Given the description of an element on the screen output the (x, y) to click on. 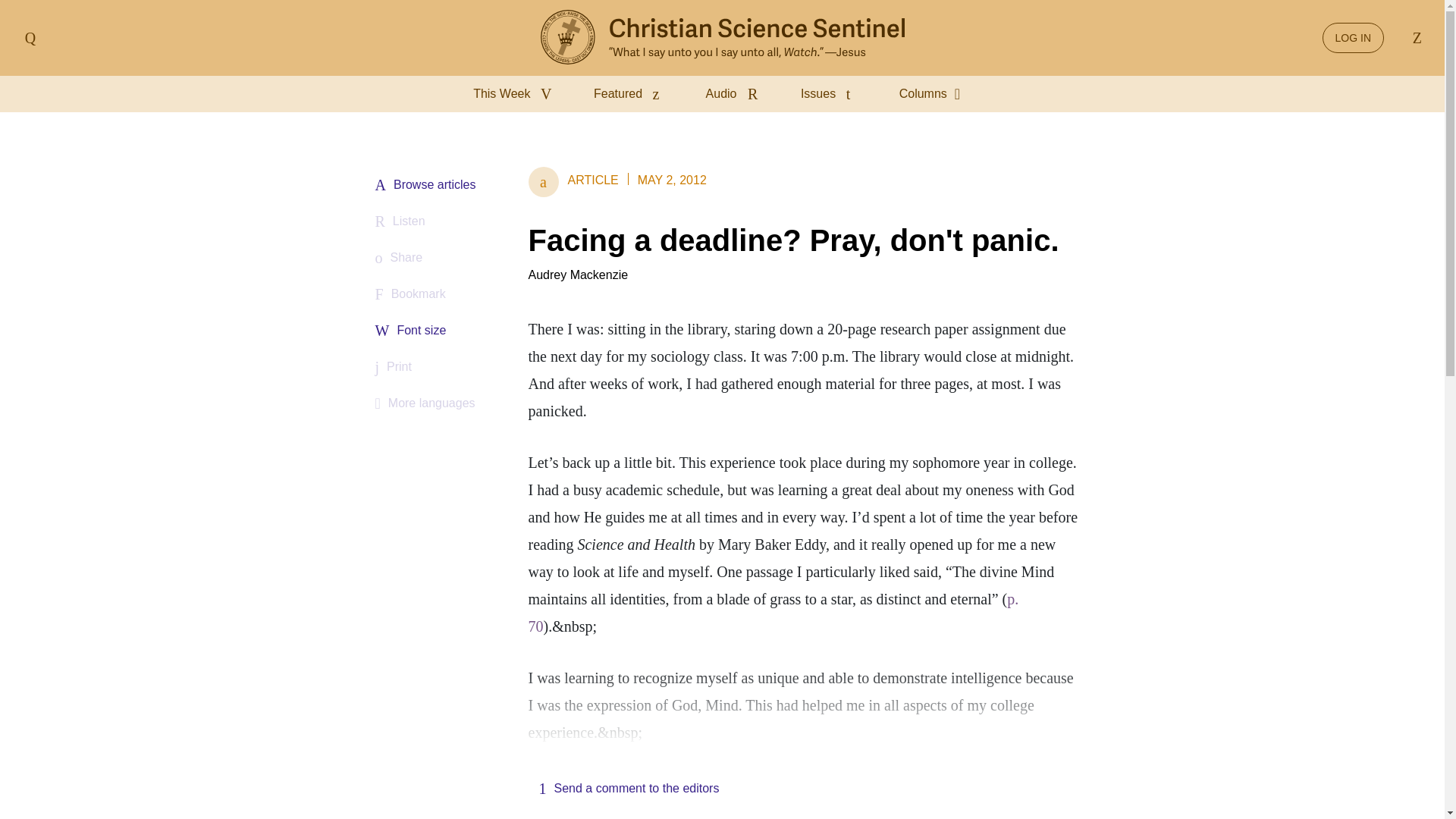
This Week (515, 94)
LOG IN (1353, 37)
Issues (831, 94)
Featured (631, 94)
Side Menu (29, 37)
View Sentinel Columns and Sections (934, 94)
Featured (631, 94)
Audio (735, 94)
This Week (515, 94)
Issues (831, 94)
